Given the description of an element on the screen output the (x, y) to click on. 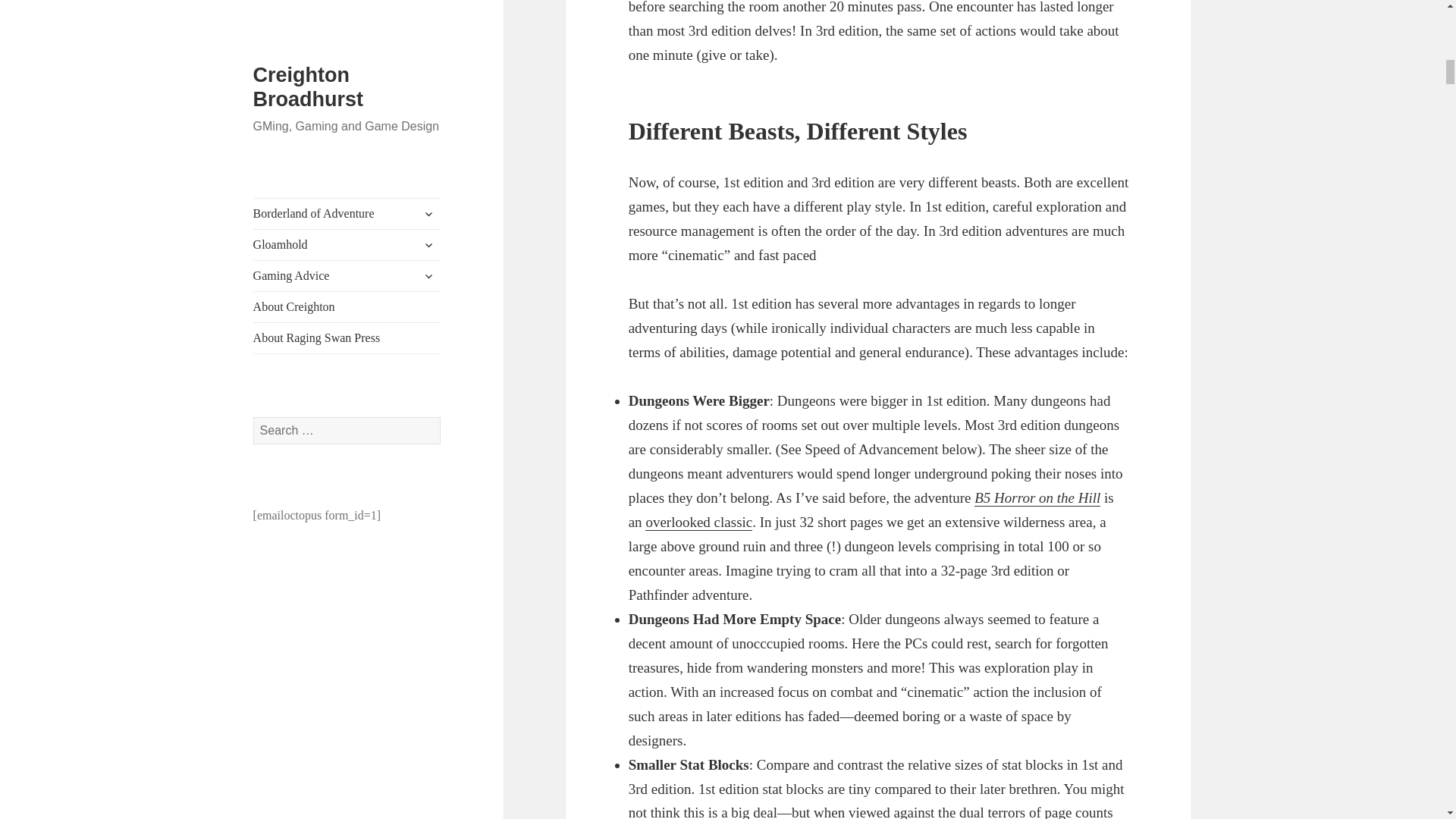
overlooked classic (698, 522)
4 Overlooked Classic TSR Modules You Should Run (698, 522)
B5 Horror on the Hill (1037, 497)
